Given the description of an element on the screen output the (x, y) to click on. 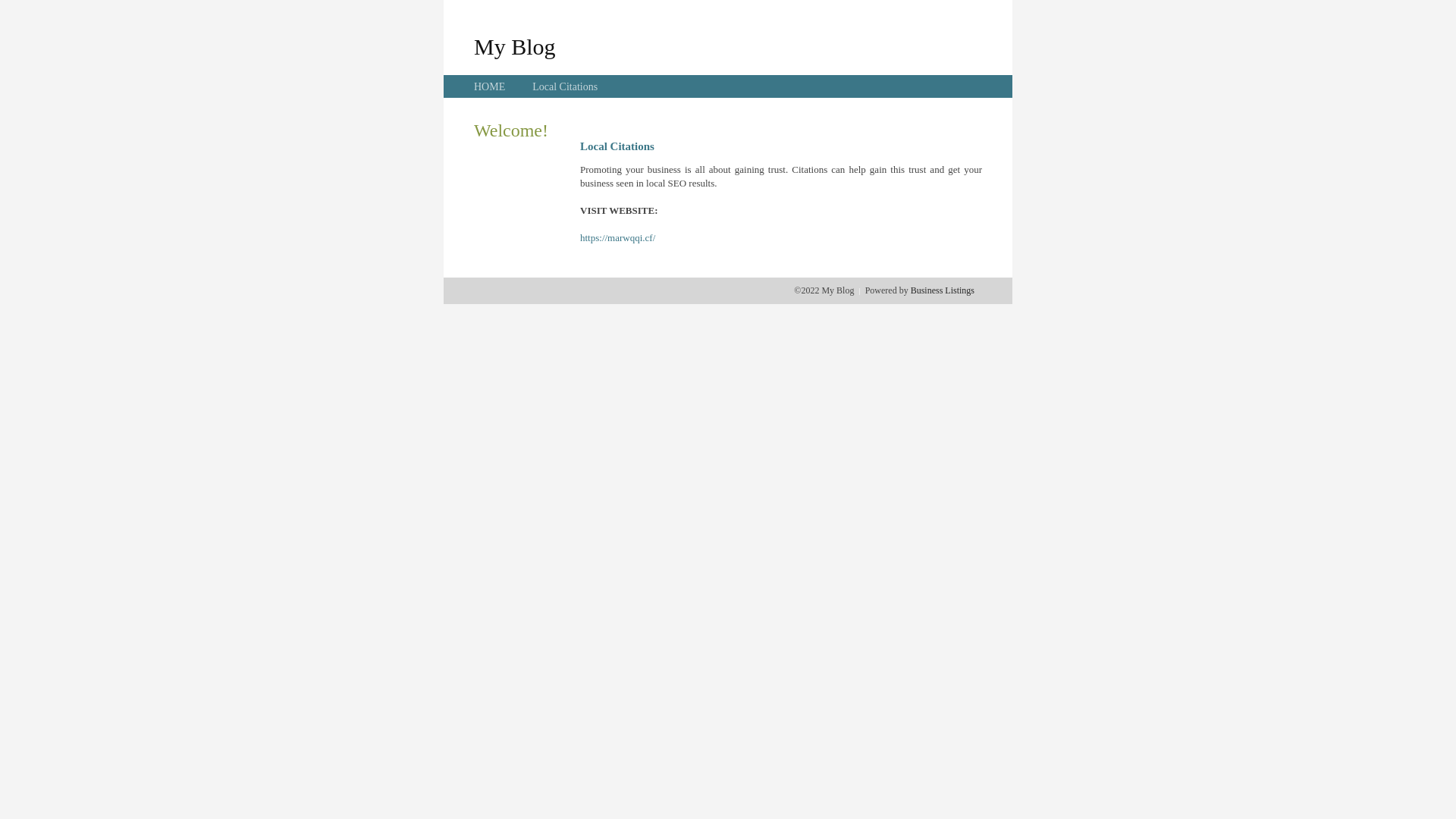
https://marwqqi.cf/ Element type: text (617, 237)
Local Citations Element type: text (564, 86)
My Blog Element type: text (514, 46)
HOME Element type: text (489, 86)
Business Listings Element type: text (942, 290)
